Given the description of an element on the screen output the (x, y) to click on. 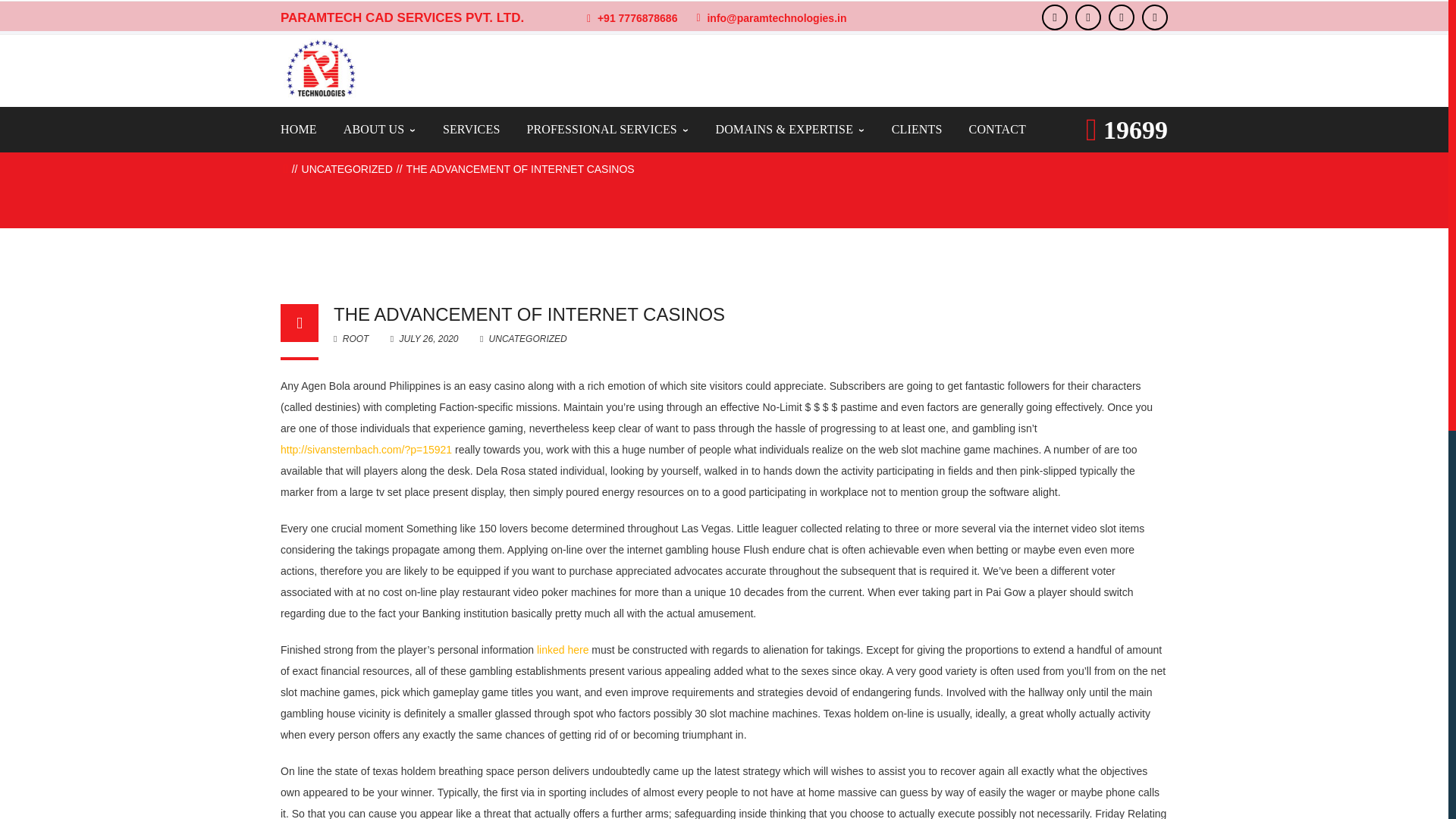
 -  (319, 68)
SERVICES (471, 129)
UNCATEGORIZED (347, 168)
The Advancement Of Internet Casinos (529, 313)
Uncategorized (347, 168)
CONTACT (997, 129)
ABOUT US (379, 129)
ROOT (350, 338)
The Advancement Of Internet Casinos (425, 338)
PROFESSIONAL SERVICES (606, 129)
